Given the description of an element on the screen output the (x, y) to click on. 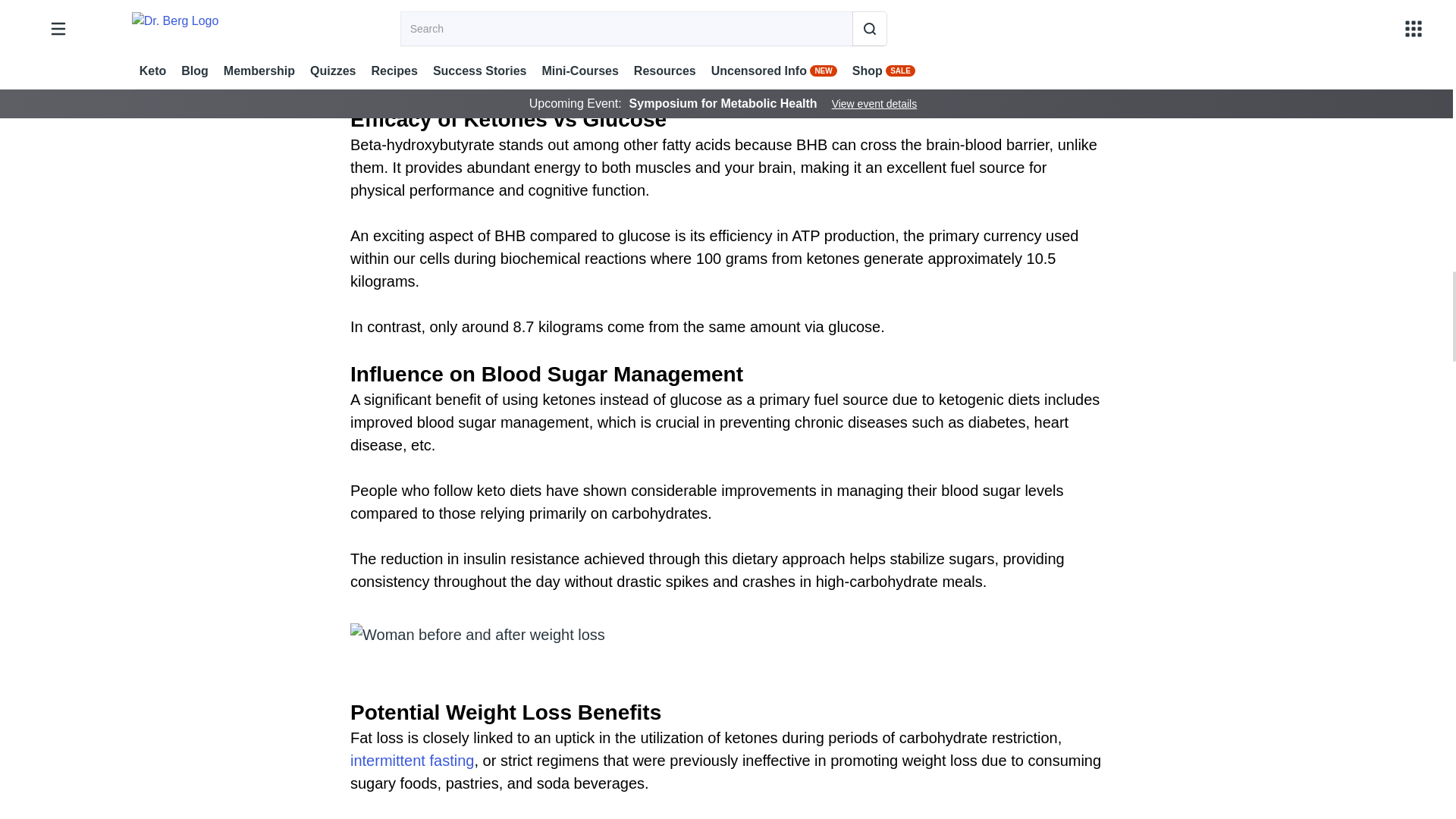
intermittent fasting (412, 760)
